Given the description of an element on the screen output the (x, y) to click on. 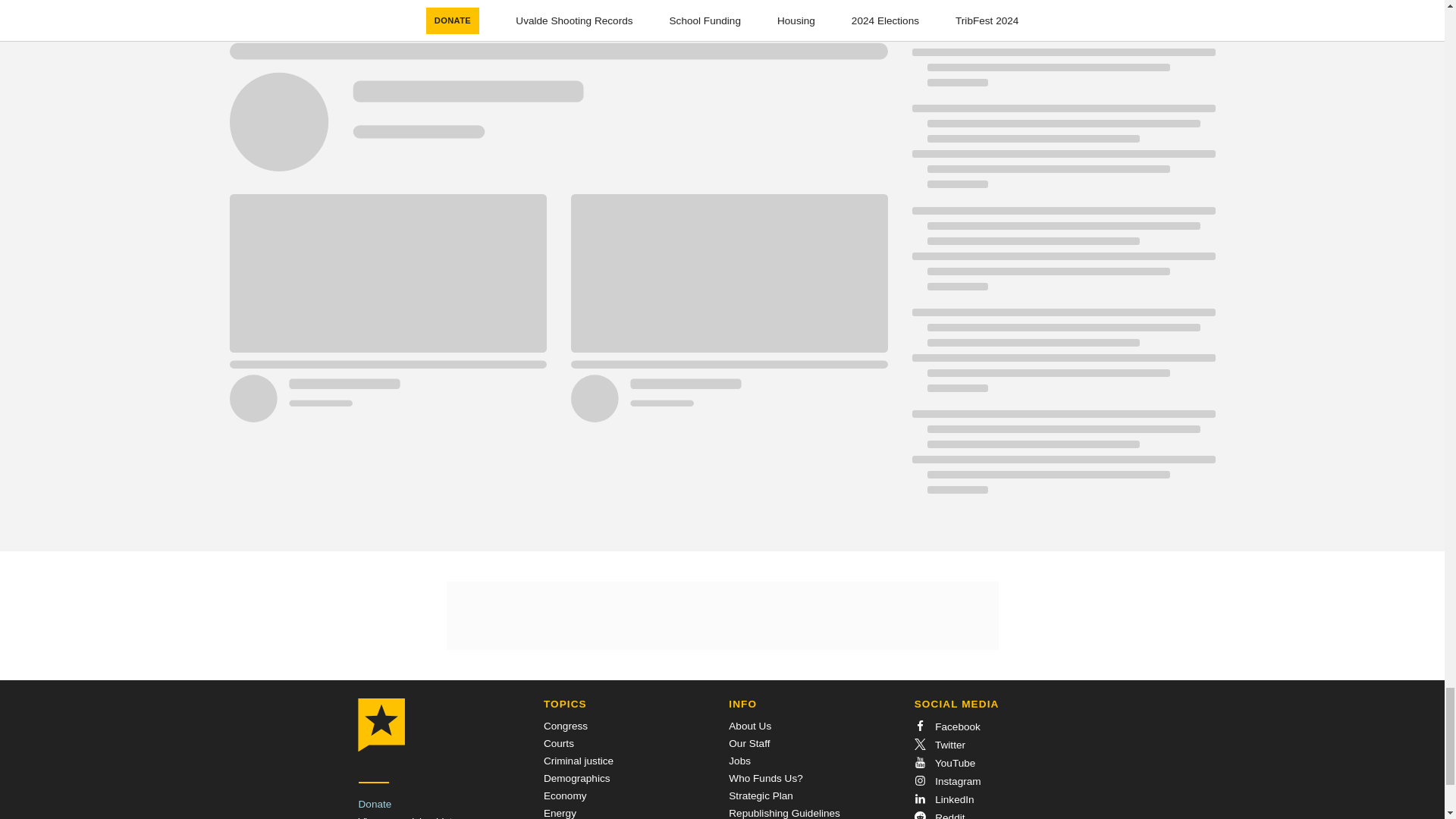
Loading indicator (1062, 459)
Republishing Guidelines (784, 813)
Loading indicator (1062, 357)
Facebook (946, 726)
Strategic Plan (761, 795)
Loading indicator (557, 95)
Donate (374, 803)
About Us (750, 726)
Who Funds Us? (765, 778)
View your giving history (411, 817)
